Given the description of an element on the screen output the (x, y) to click on. 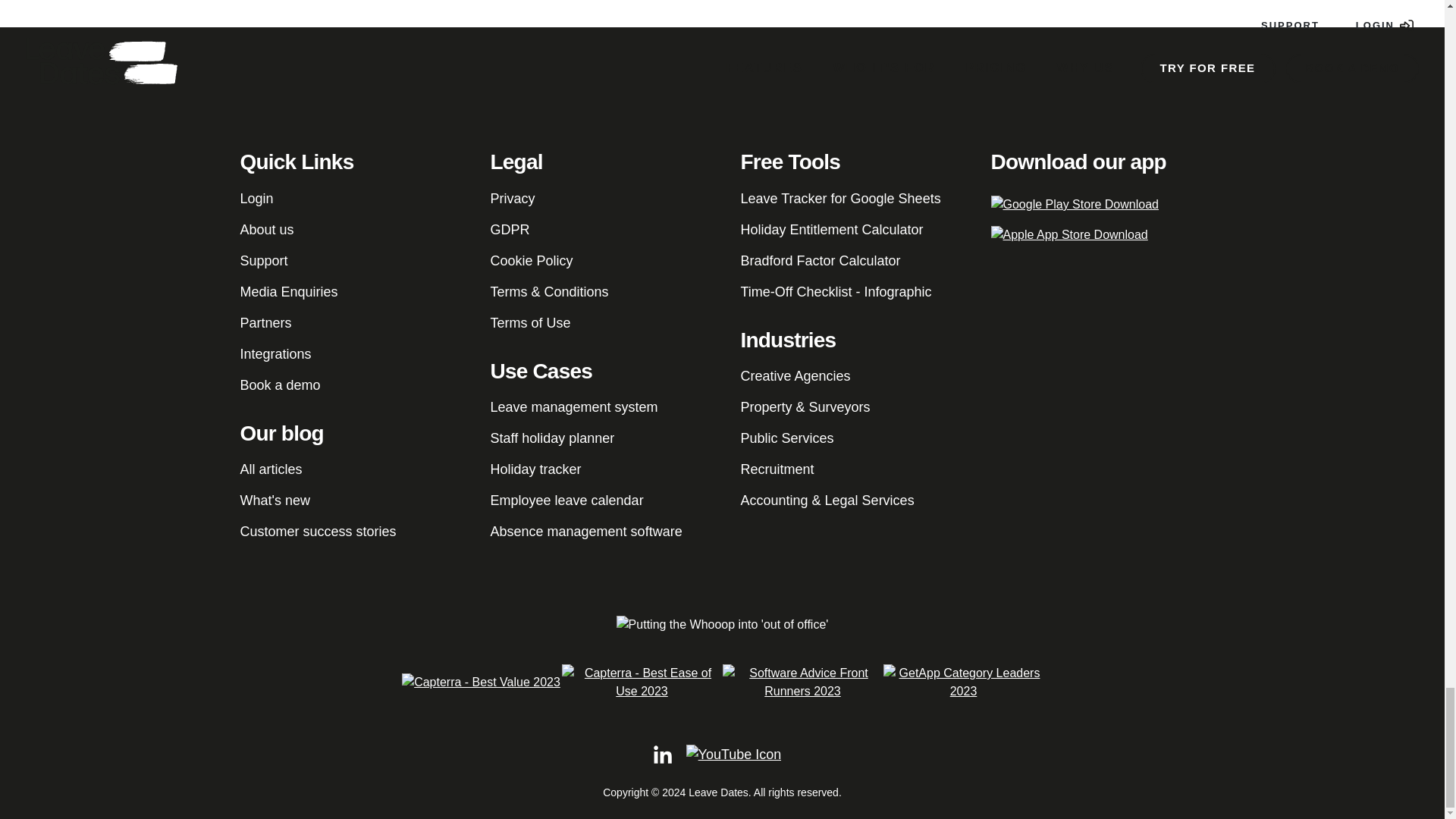
About us (267, 229)
Login (256, 198)
